Given the description of an element on the screen output the (x, y) to click on. 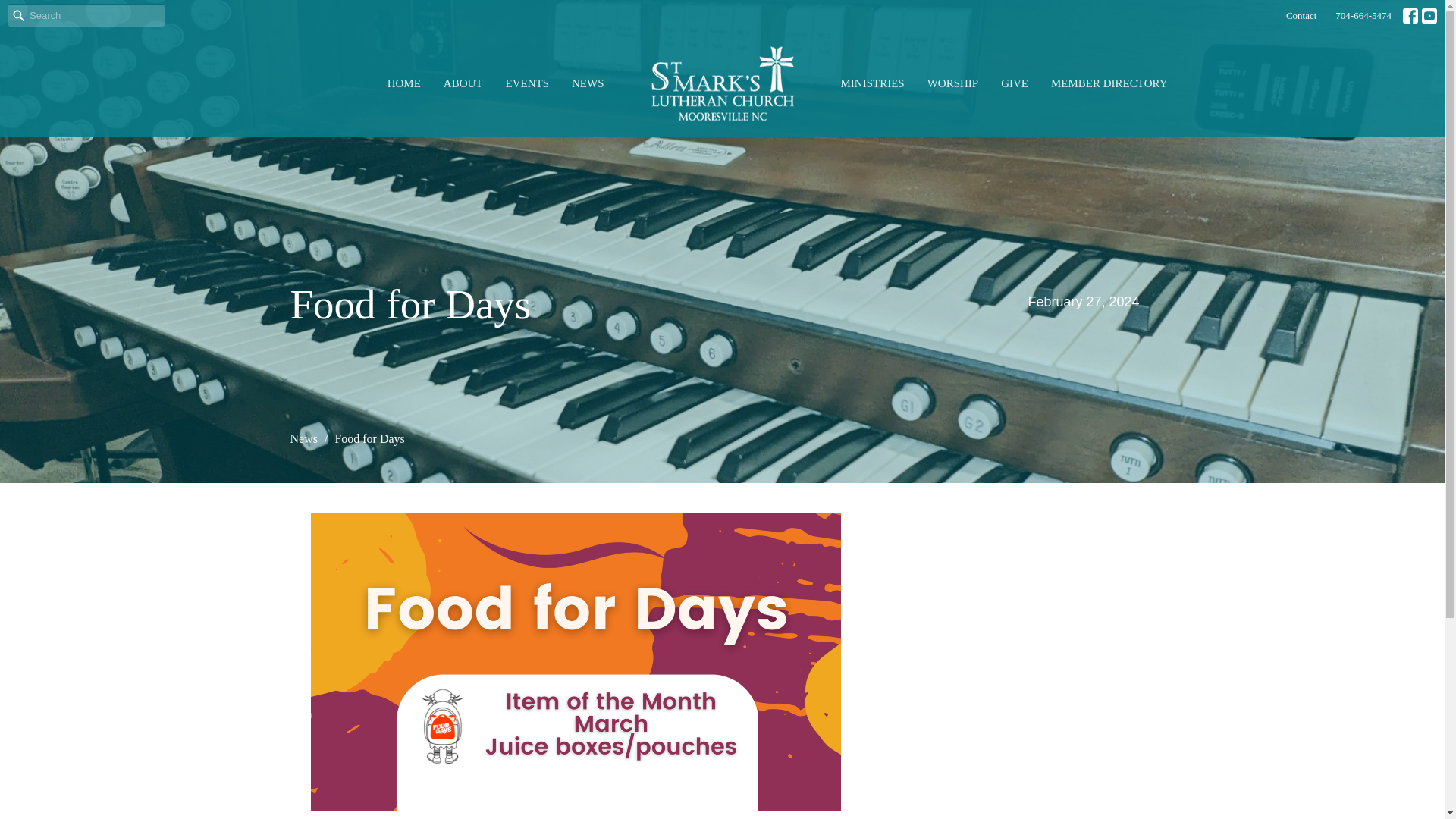
WORSHIP (952, 83)
NEWS (588, 83)
MINISTRIES (872, 83)
News (303, 438)
GIVE (1014, 83)
EVENTS (526, 83)
HOME (403, 83)
ABOUT (463, 83)
704-664-5474 (1363, 15)
MEMBER DIRECTORY (1109, 83)
